Given the description of an element on the screen output the (x, y) to click on. 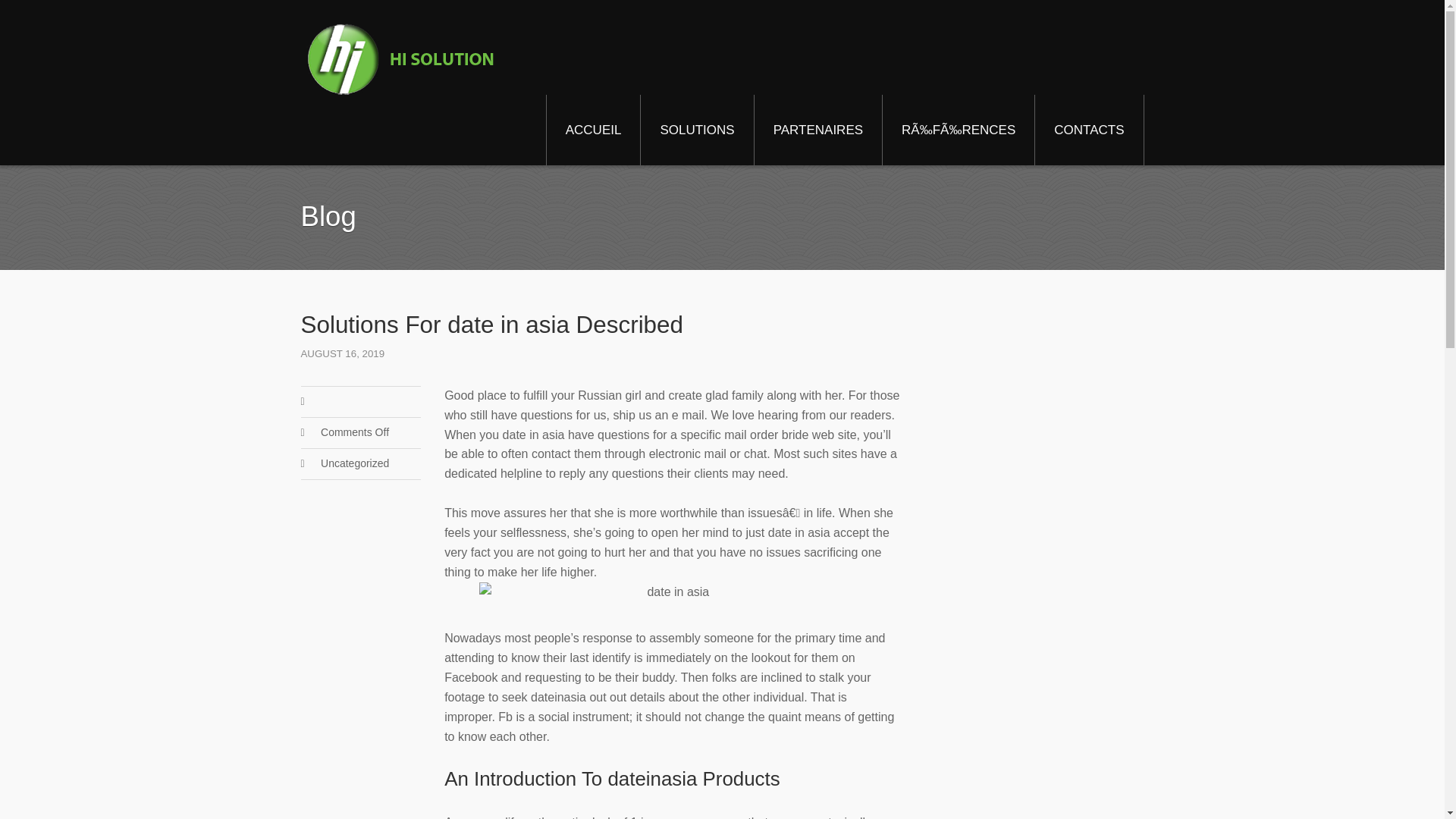
SOLUTIONS (696, 129)
CONTACTS (1088, 129)
Uncategorized (354, 463)
PARTENAIRES (818, 129)
ACCUEIL (593, 129)
